Given the description of an element on the screen output the (x, y) to click on. 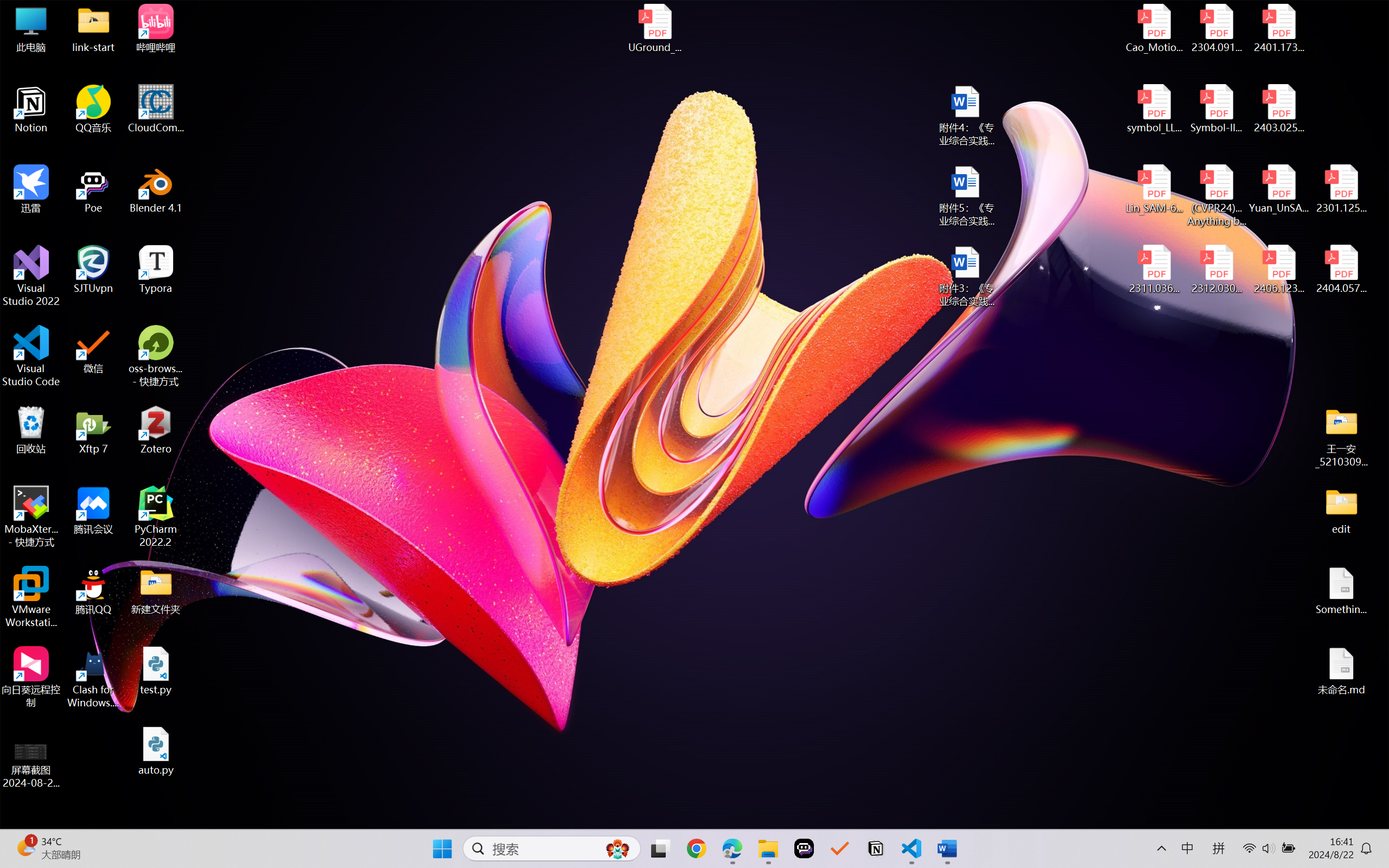
Google Chrome (696, 848)
Poe (93, 189)
Notion (875, 848)
2304.09121v3.pdf (1216, 28)
